Given the description of an element on the screen output the (x, y) to click on. 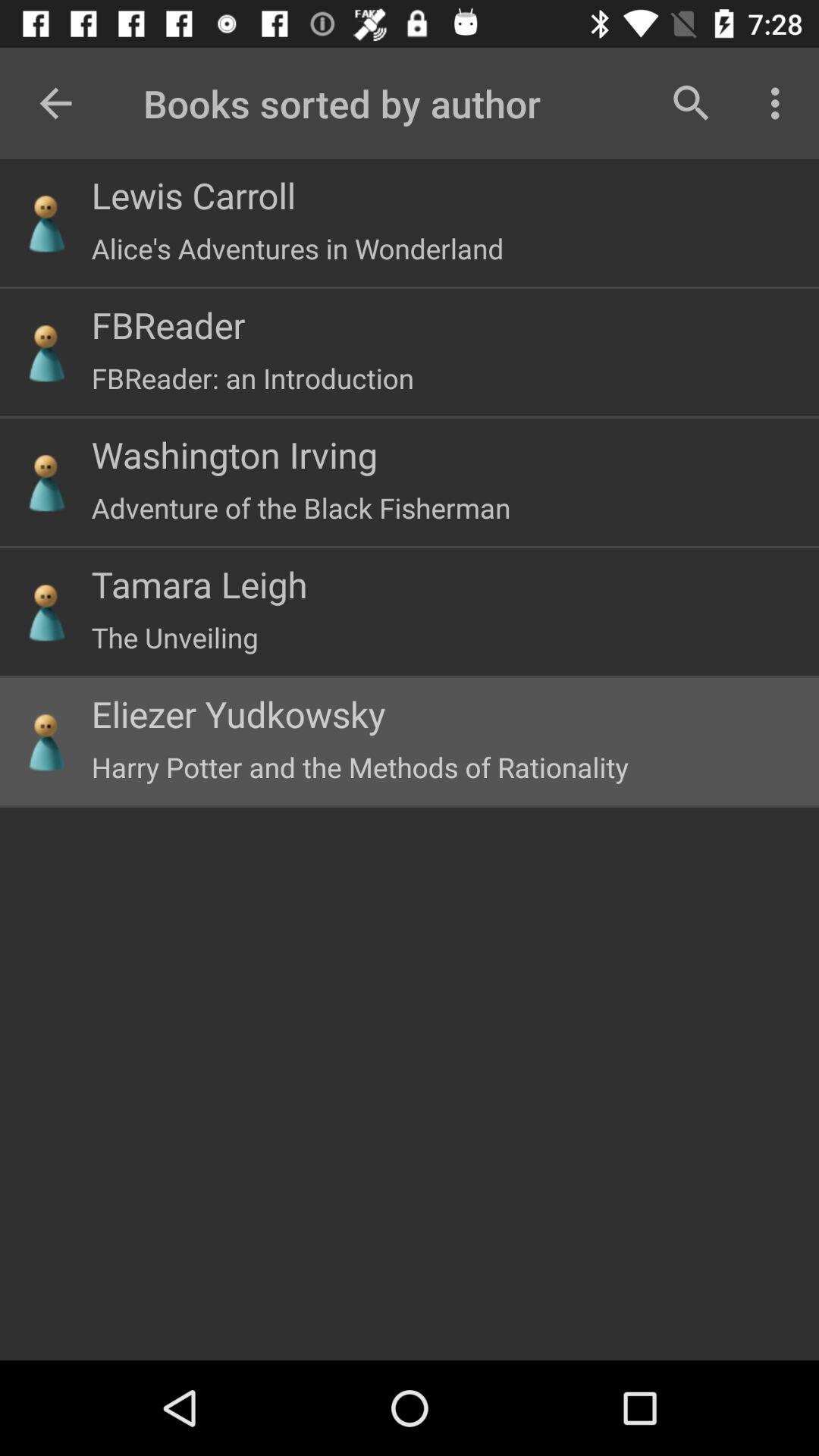
choose item next to books sorted by item (691, 103)
